Given the description of an element on the screen output the (x, y) to click on. 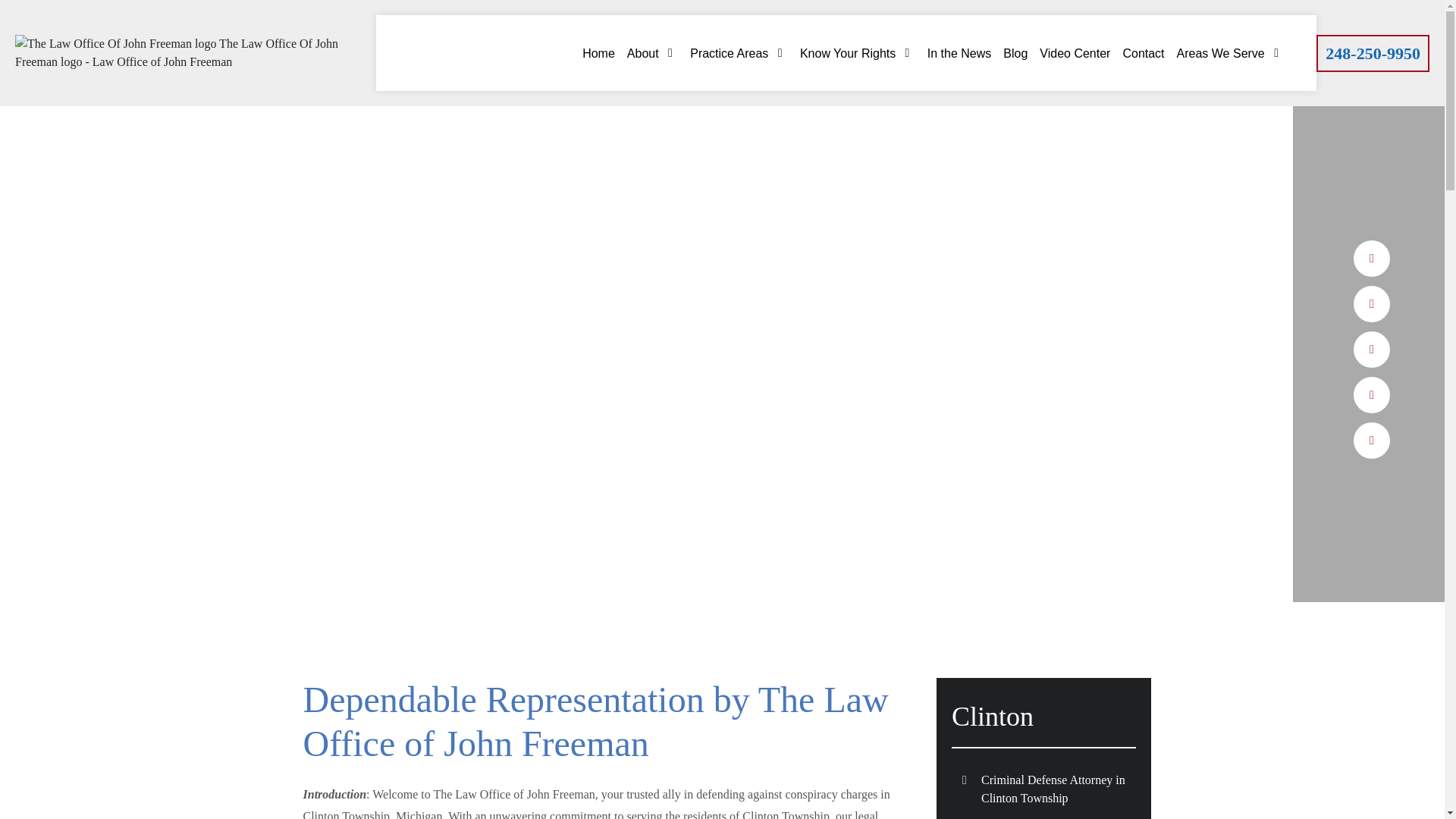
Home (598, 53)
Practice Areas (738, 53)
About (652, 53)
